Given the description of an element on the screen output the (x, y) to click on. 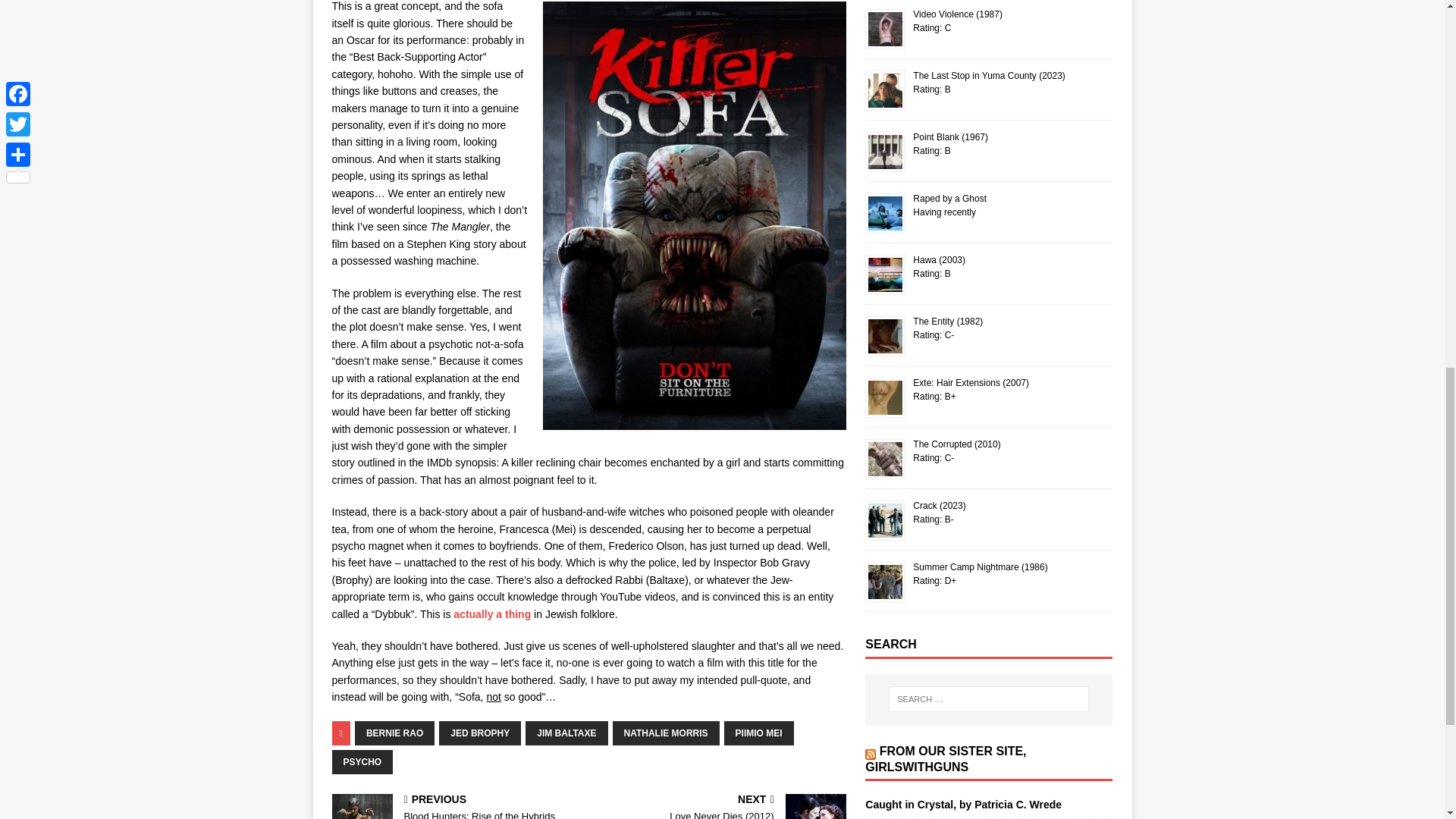
JIM BALTAXE (566, 733)
BERNIE RAO (394, 733)
PSYCHO (362, 761)
actually a thing (491, 613)
NATHALIE MORRIS (665, 733)
JED BROPHY (480, 733)
PIIMIO MEI (758, 733)
